Given the description of an element on the screen output the (x, y) to click on. 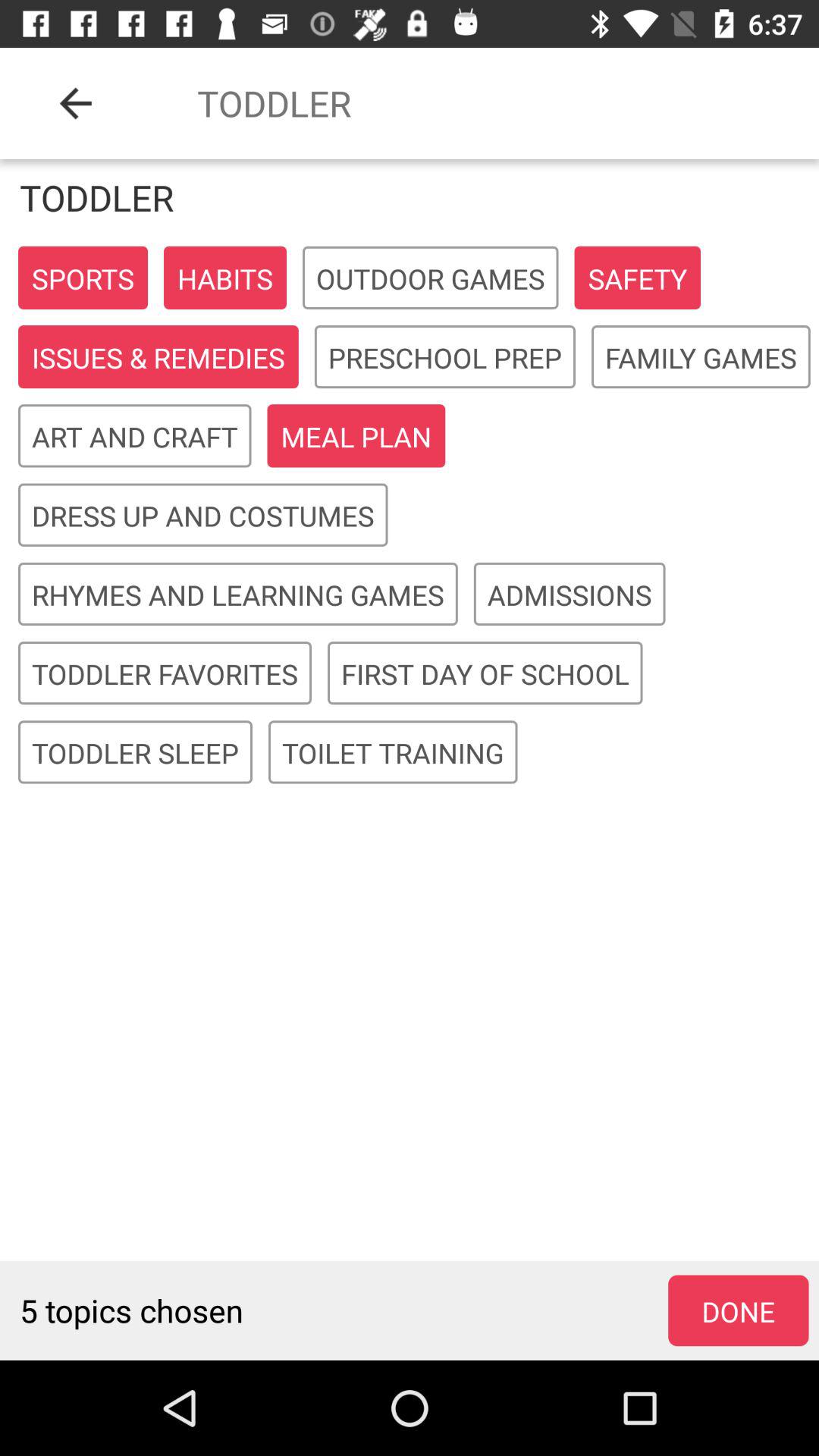
swipe to sports (82, 278)
